Given the description of an element on the screen output the (x, y) to click on. 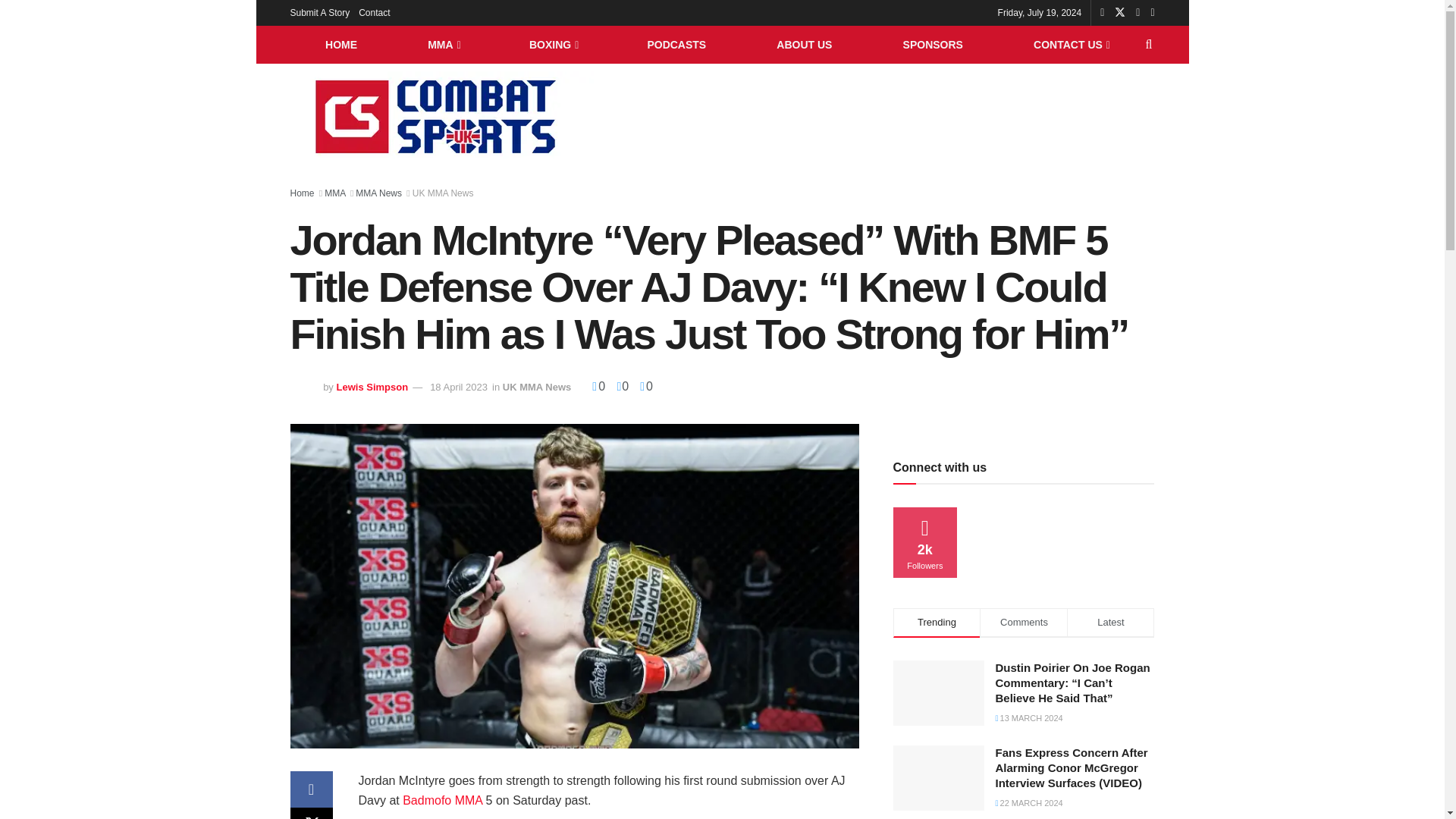
HOME (340, 44)
BOXING (552, 44)
PODCASTS (676, 44)
CONTACT US (1070, 44)
SPONSORS (932, 44)
ABOUT US (804, 44)
Submit A Story (319, 12)
Contact (374, 12)
MMA (444, 44)
